Given the description of an element on the screen output the (x, y) to click on. 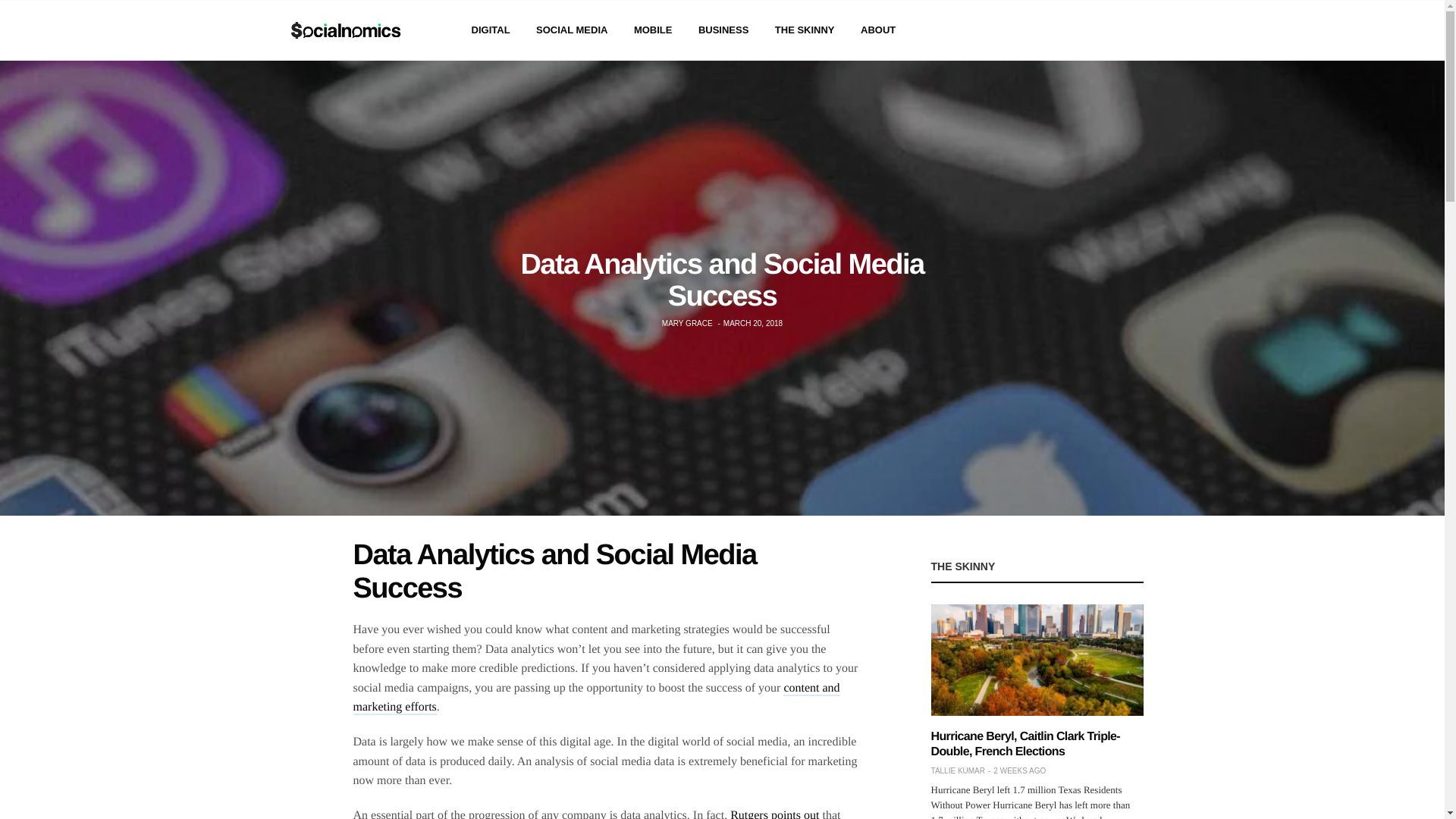
DIGITAL (491, 30)
